Given the description of an element on the screen output the (x, y) to click on. 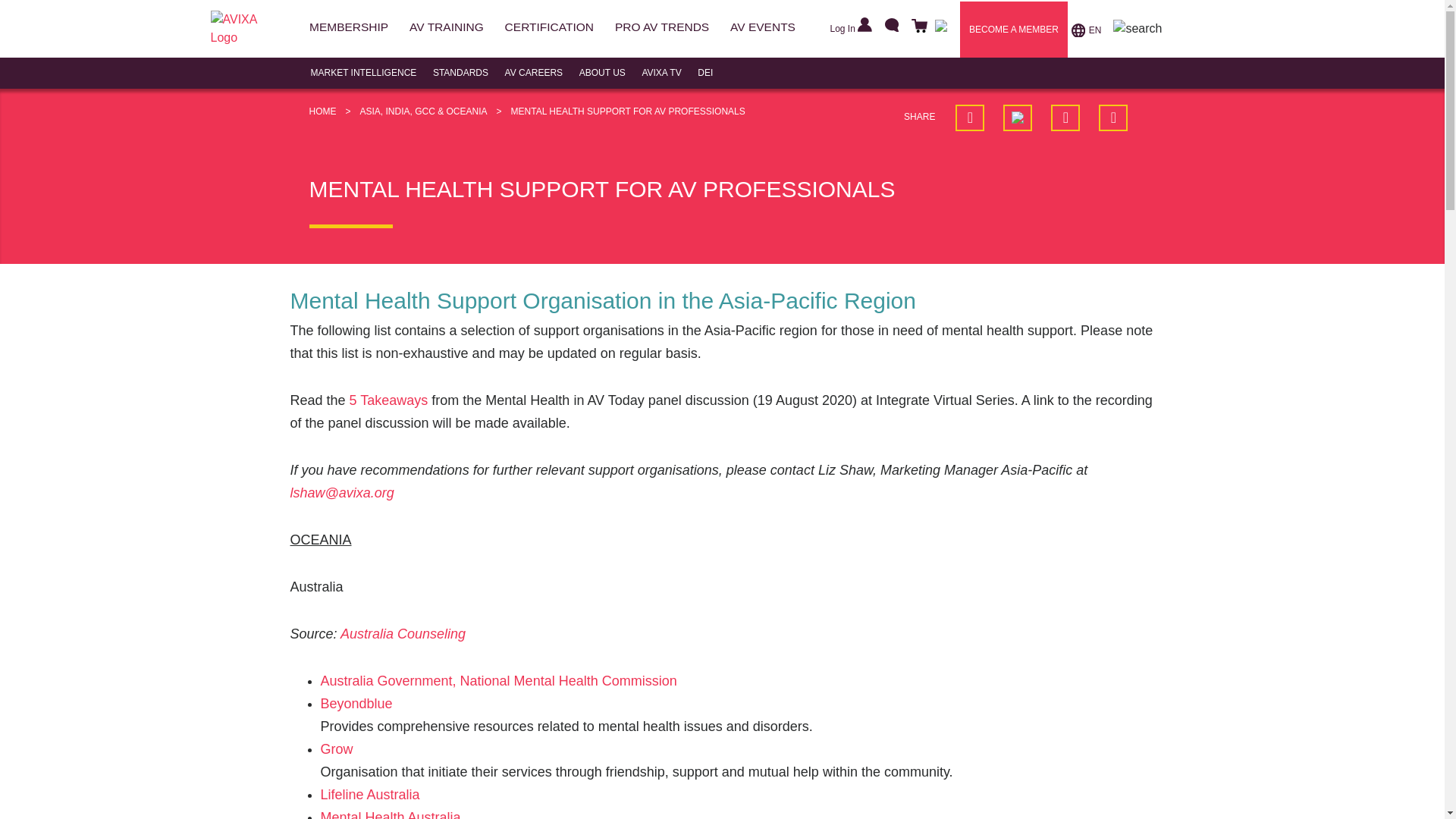
Contact (889, 26)
Join the AVIXA Xchange (940, 28)
Shop (916, 27)
Tell a friend (1112, 117)
